Given the description of an element on the screen output the (x, y) to click on. 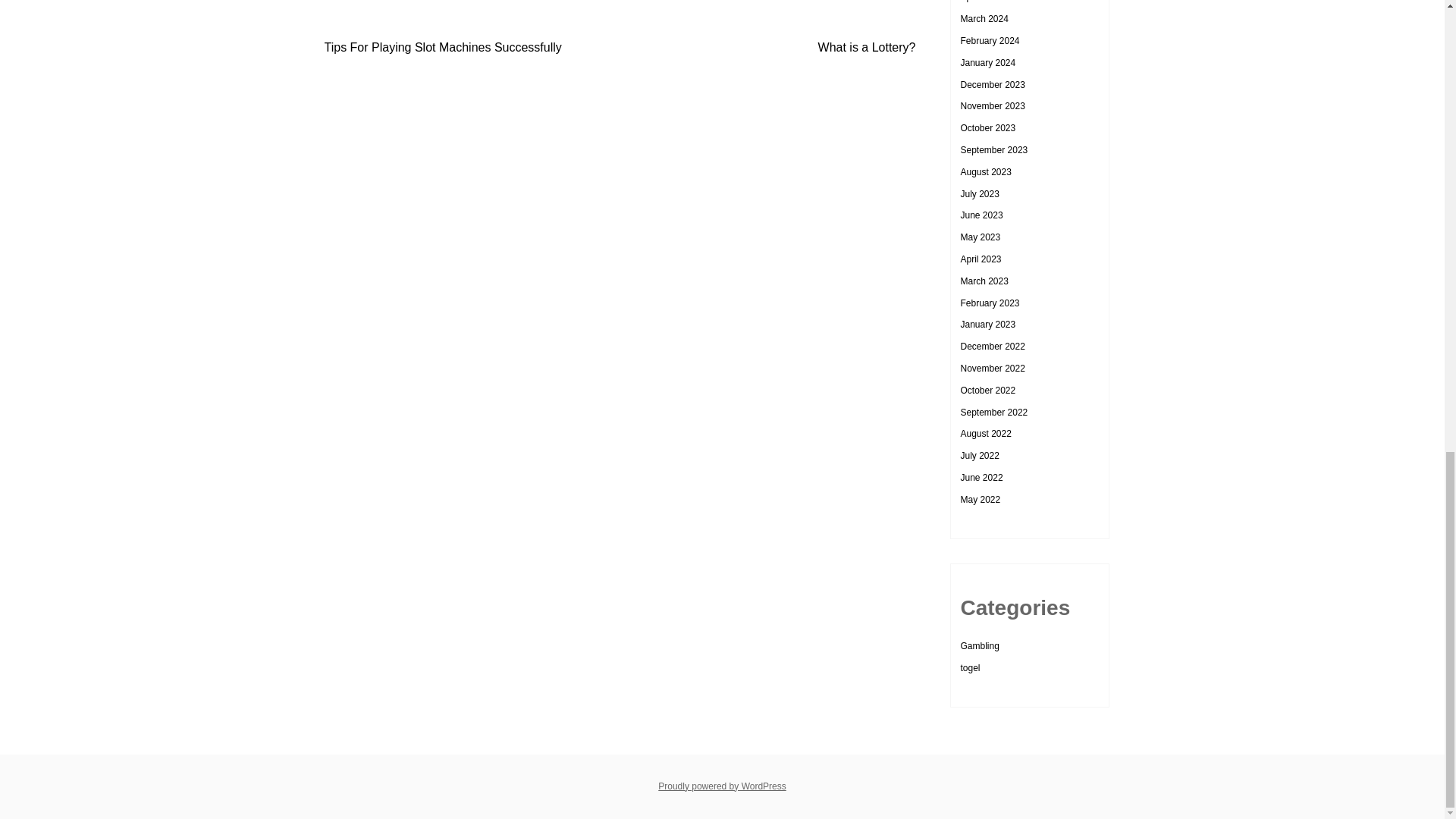
September 2023 (993, 149)
Tips For Playing Slot Machines Successfully (443, 47)
October 2023 (986, 127)
December 2023 (992, 84)
What is a Lottery? (866, 47)
March 2024 (983, 18)
January 2023 (986, 324)
December 2022 (992, 346)
November 2022 (992, 368)
November 2023 (992, 105)
